Given the description of an element on the screen output the (x, y) to click on. 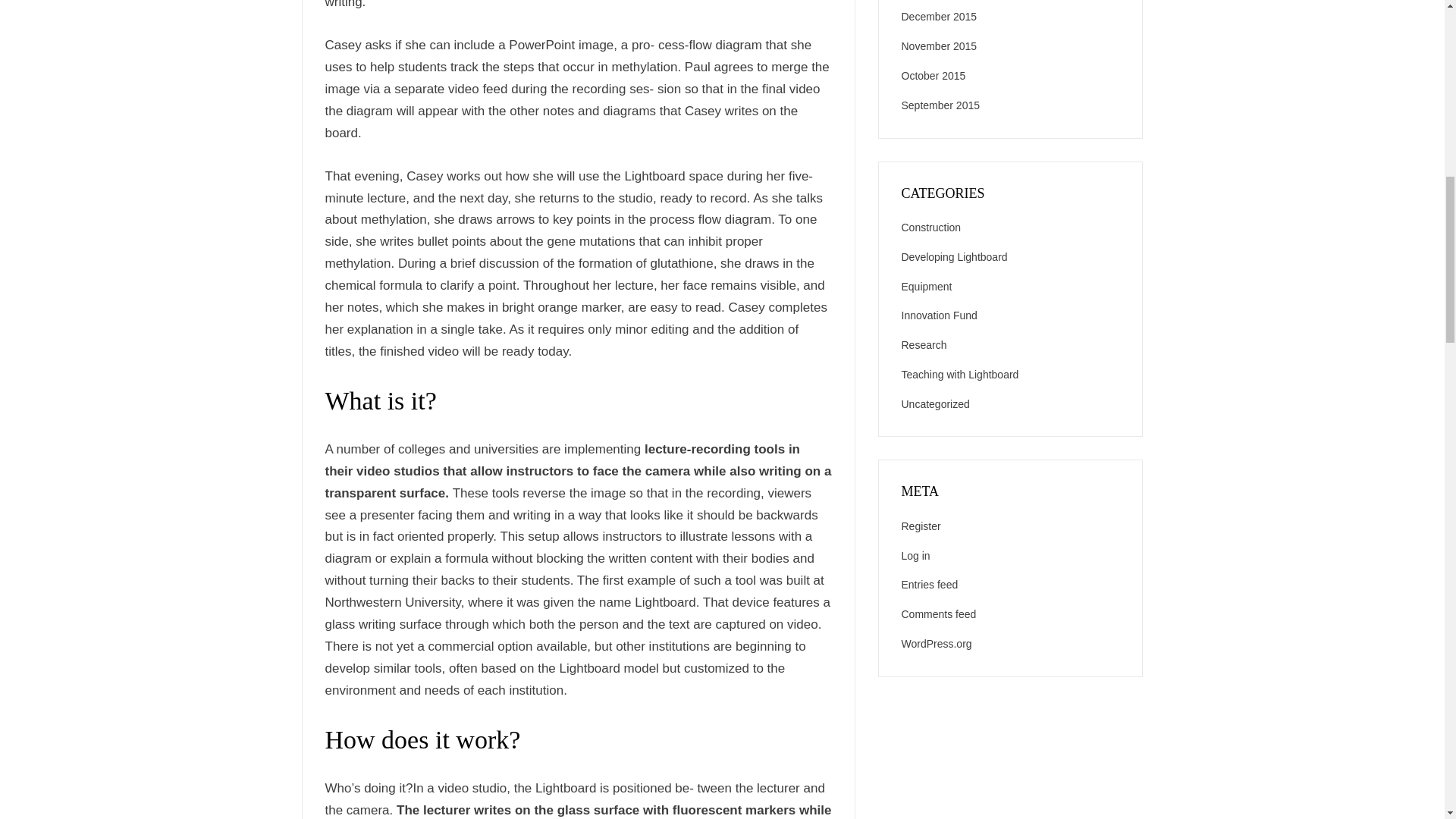
Construction (930, 227)
November 2015 (938, 46)
October 2015 (933, 75)
Developing Lightboard (954, 256)
Teaching with Lightboard (959, 374)
Innovation Fund (938, 315)
December 2015 (938, 16)
Research (923, 345)
Equipment (926, 286)
September 2015 (940, 105)
